Given the description of an element on the screen output the (x, y) to click on. 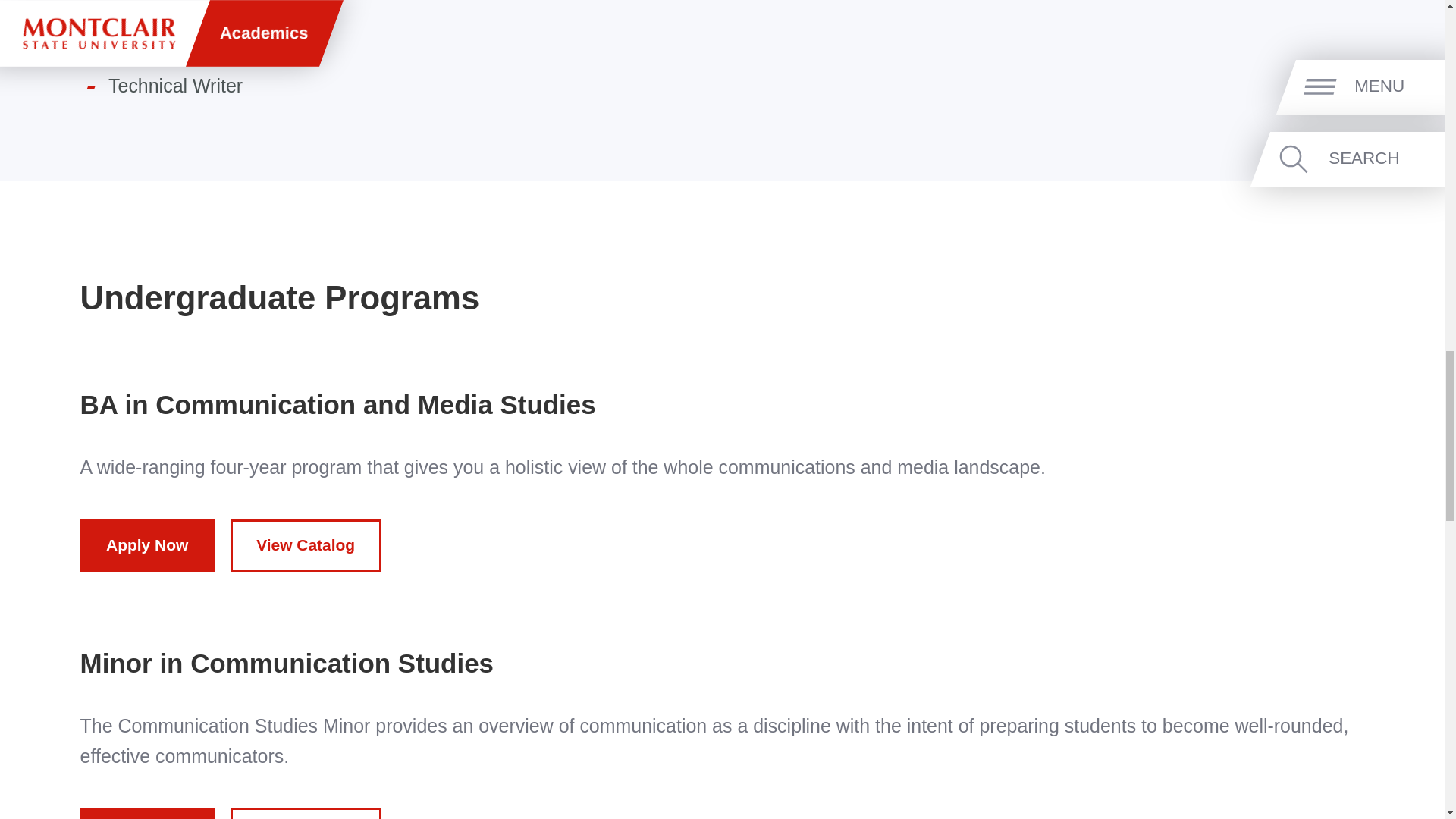
View Catalog (305, 813)
View Catalog (305, 545)
Apply Now (147, 813)
Apply Now (147, 545)
